Given the description of an element on the screen output the (x, y) to click on. 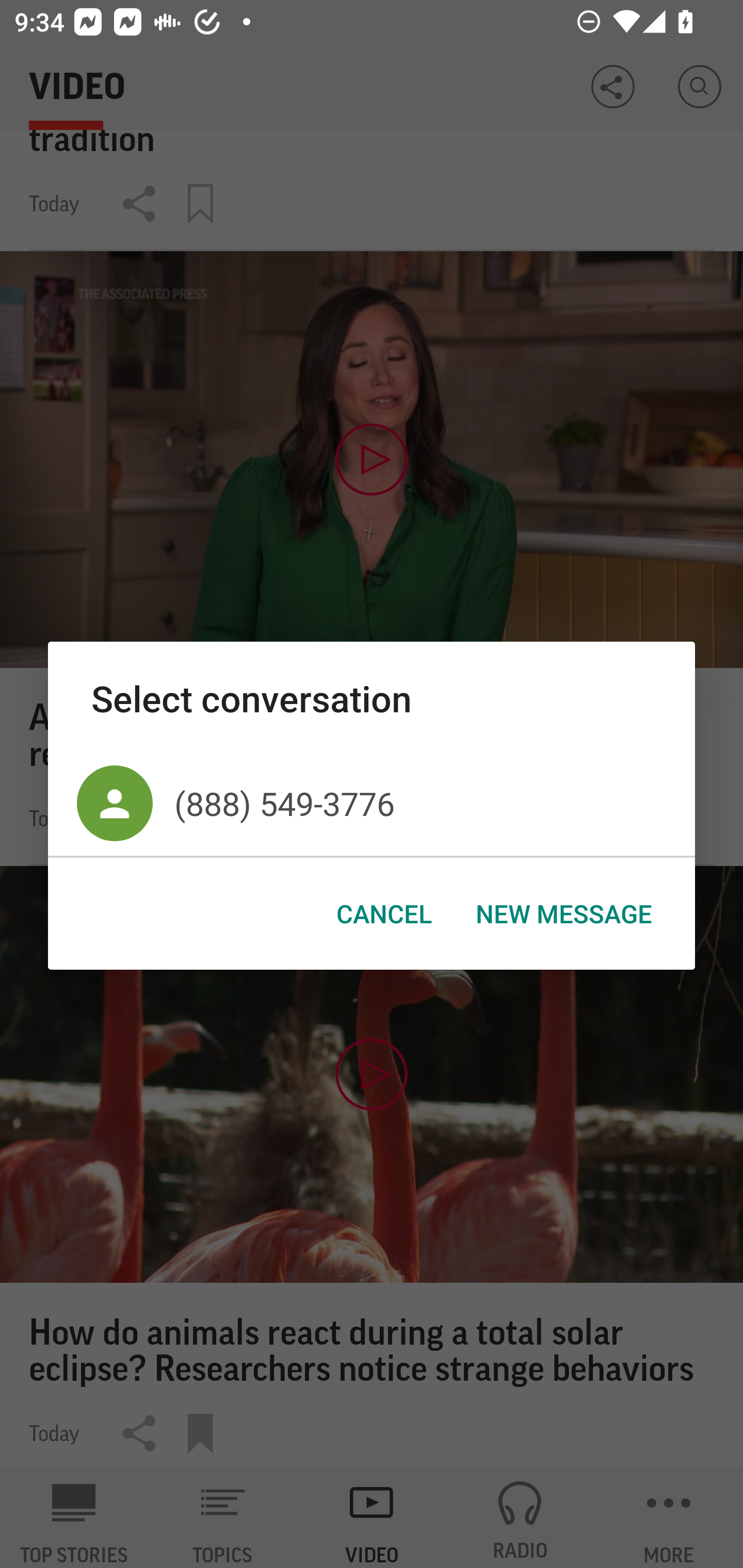
CANCEL (384, 913)
NEW MESSAGE (563, 913)
